Given the description of an element on the screen output the (x, y) to click on. 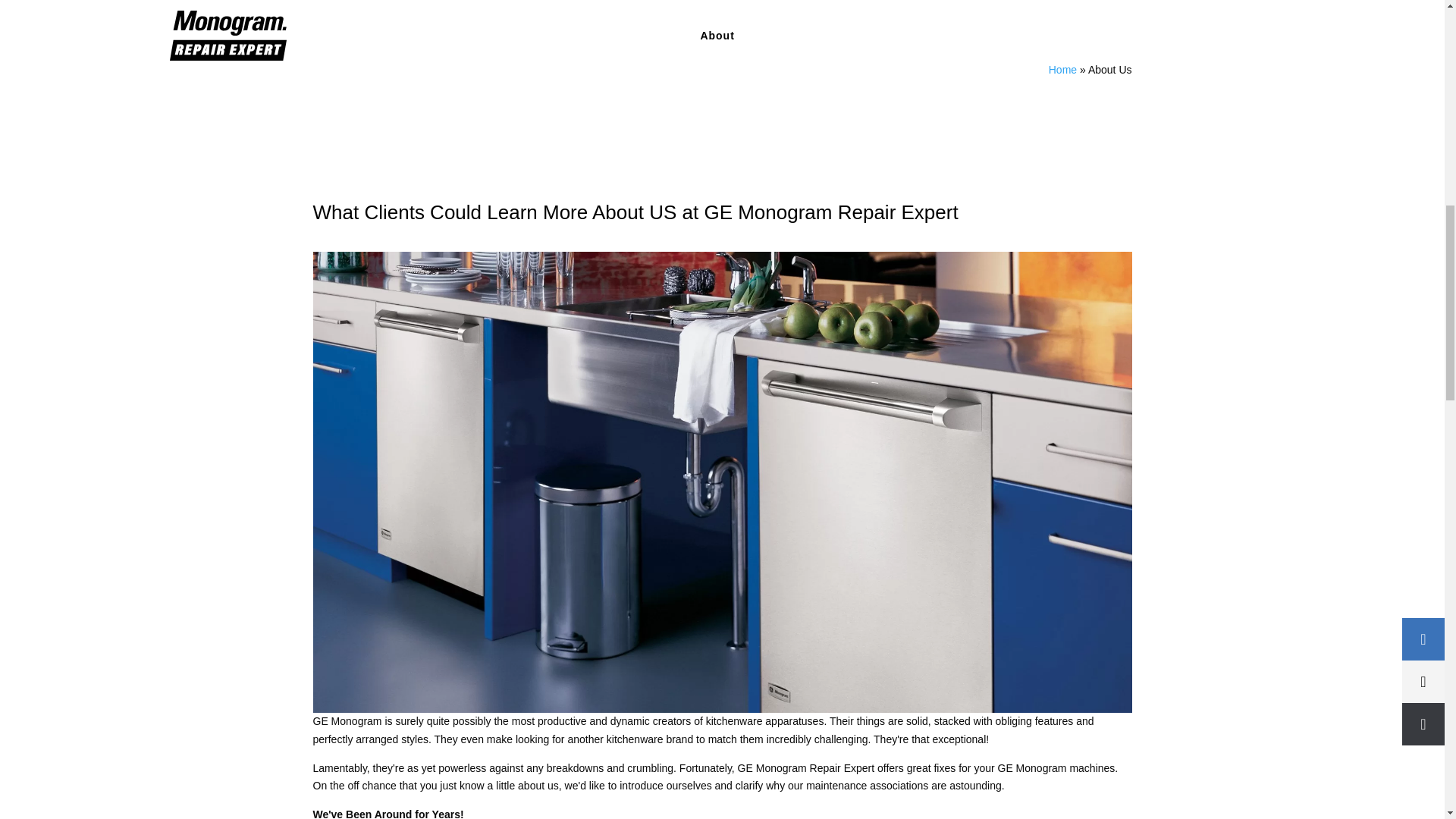
Home (1062, 69)
